Given the description of an element on the screen output the (x, y) to click on. 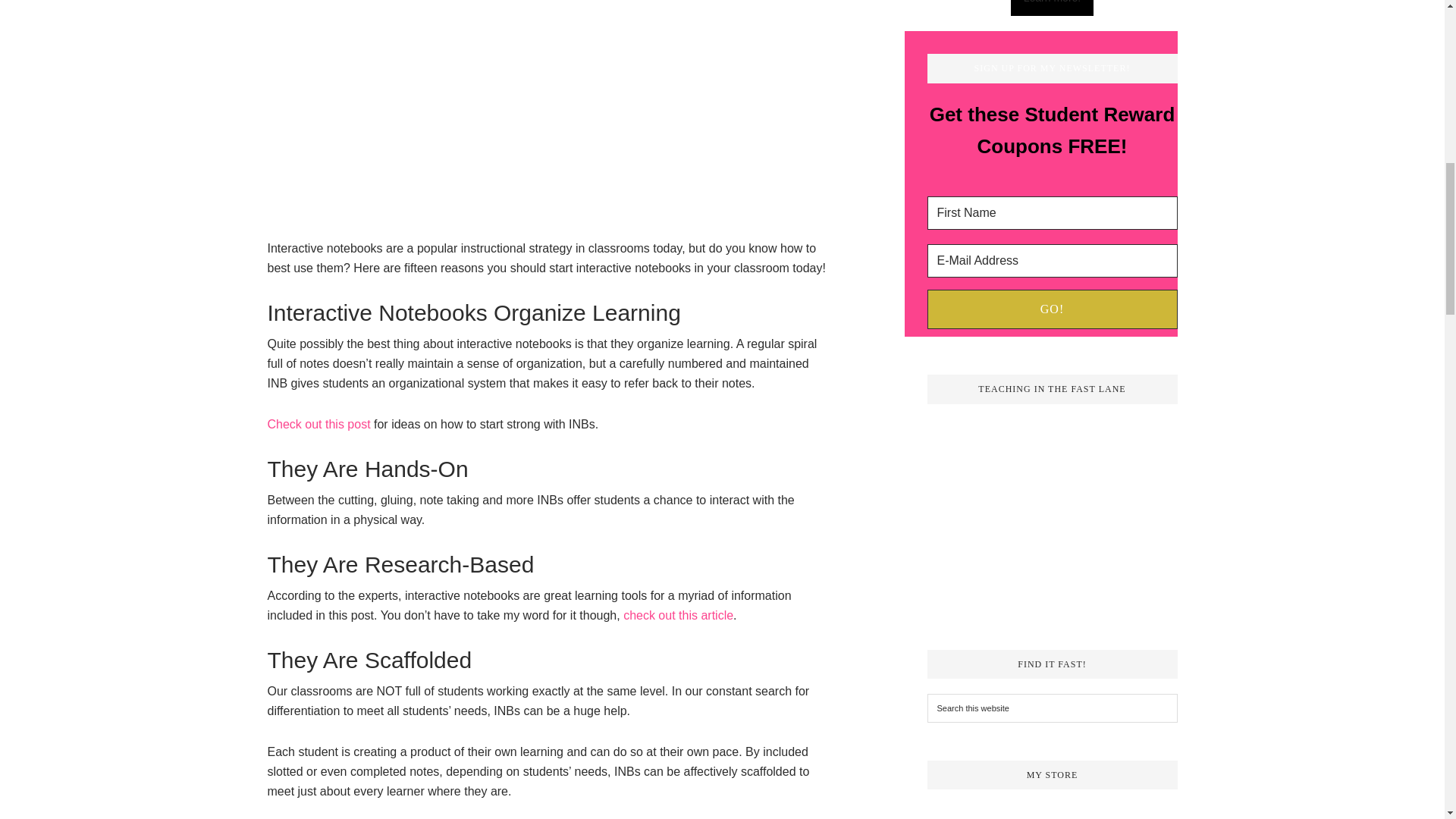
Go! (1051, 309)
Learn more! (1051, 7)
check out this article (678, 615)
Go! (1051, 309)
Check out this post (317, 423)
